Given the description of an element on the screen output the (x, y) to click on. 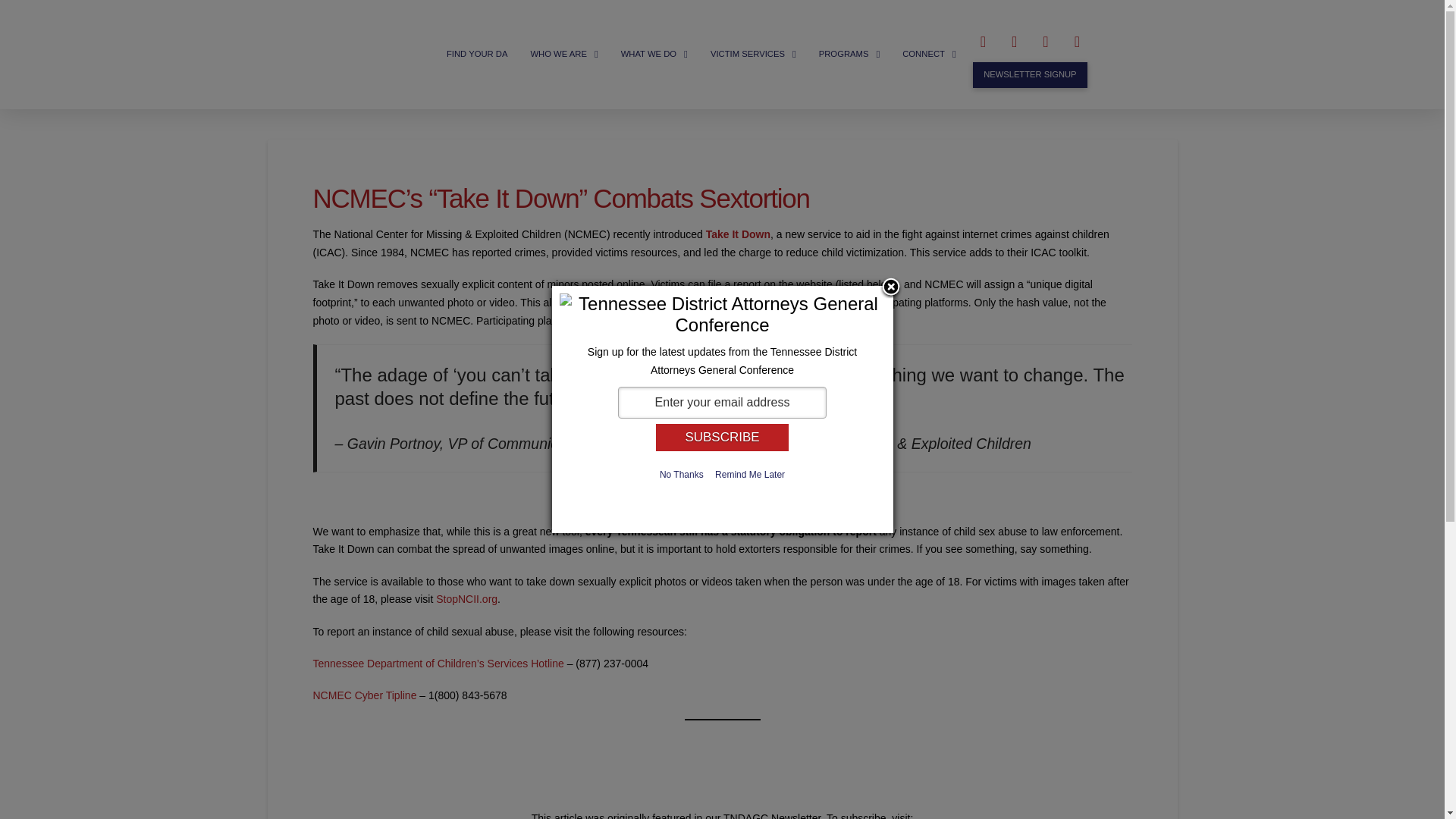
CONNECT (928, 53)
PROGRAMS (849, 53)
NEWSLETTER SIGNUP (1029, 74)
Enter your email address (722, 402)
Subscribe (722, 437)
WHO WE ARE (563, 53)
WHAT WE DO (654, 53)
StopNCII.org (466, 598)
VICTIM SERVICES (753, 53)
FIND YOUR DA (476, 53)
